Given the description of an element on the screen output the (x, y) to click on. 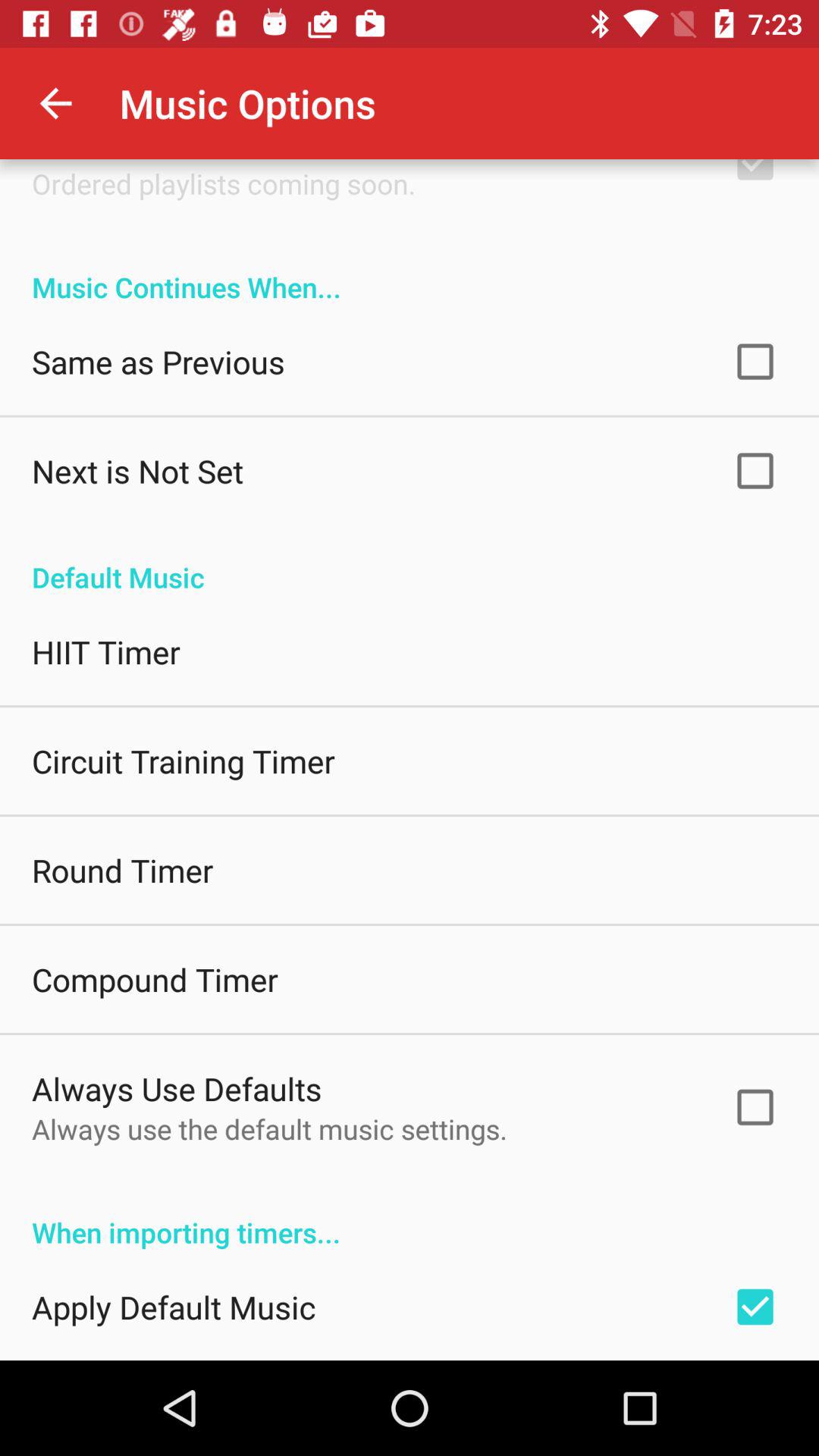
open the icon above the circuit training timer item (105, 651)
